Given the description of an element on the screen output the (x, y) to click on. 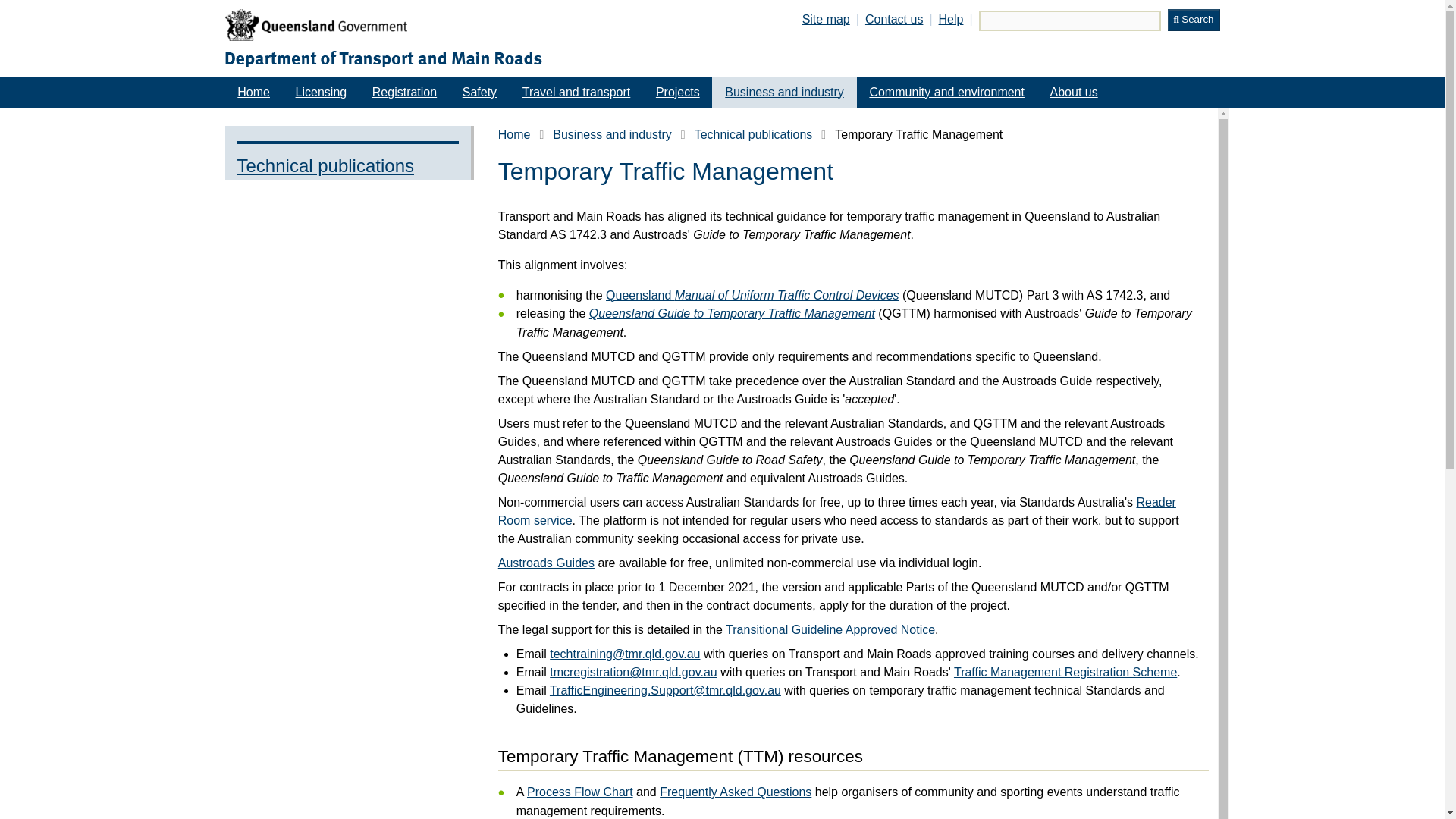
Safety (479, 91)
Traffic Management Registration Scheme (1064, 671)
Process Flow Chart (580, 791)
Home (514, 135)
Help (951, 19)
Contact us (893, 19)
Registration (404, 91)
Search (1193, 20)
Site map (826, 19)
Austroads Guides (545, 562)
About us (1073, 91)
Reader Room service (836, 511)
Home (253, 91)
Frequently Asked Questions (734, 791)
Transitional Guideline Approved Notice (829, 629)
